Given the description of an element on the screen output the (x, y) to click on. 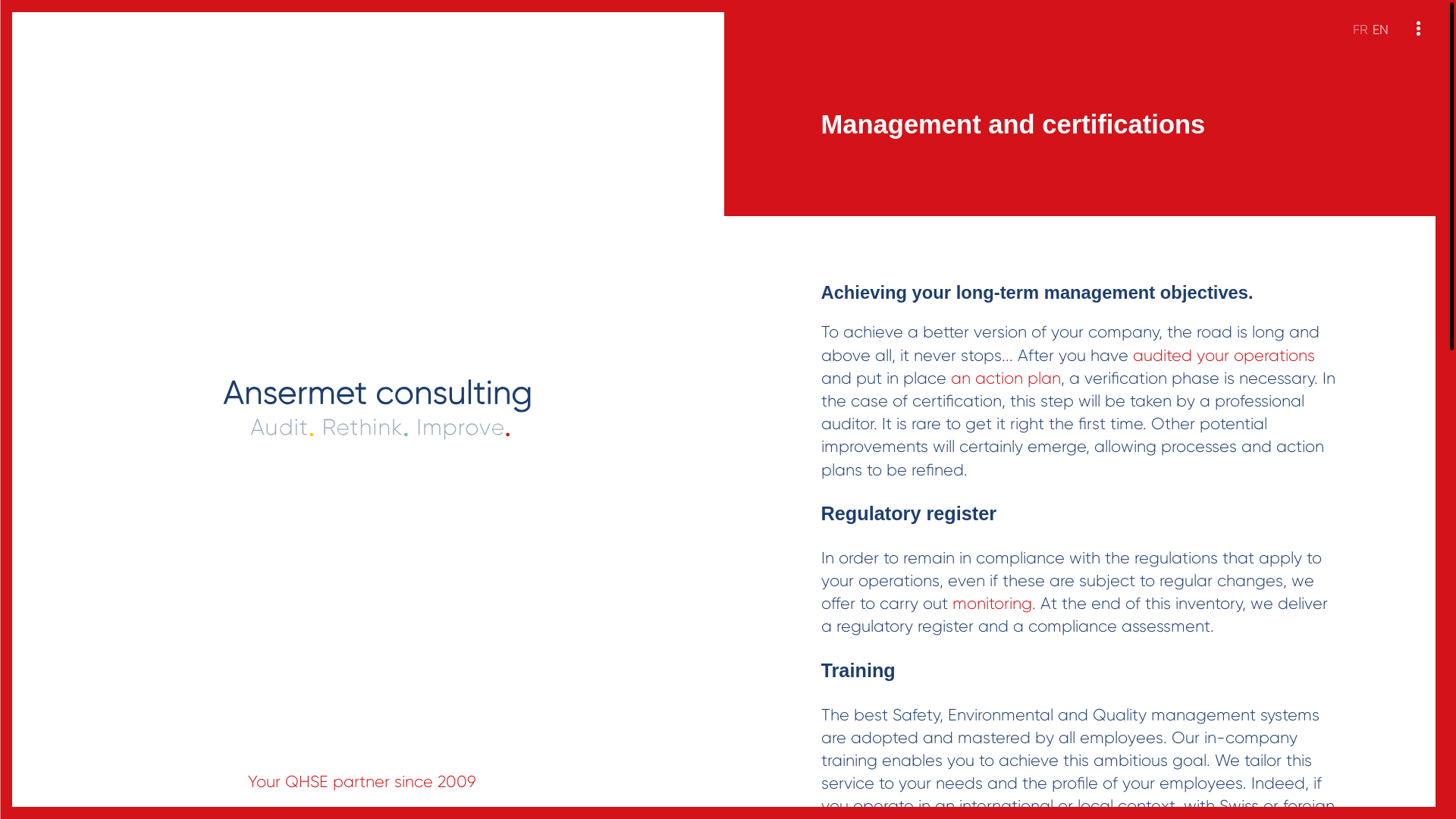
audited your operations Element type: text (1223, 355)
an action plan Element type: text (1005, 378)
EN Element type: text (1380, 29)
FR Element type: text (1360, 29)
monitoring Element type: text (992, 603)
